Given the description of an element on the screen output the (x, y) to click on. 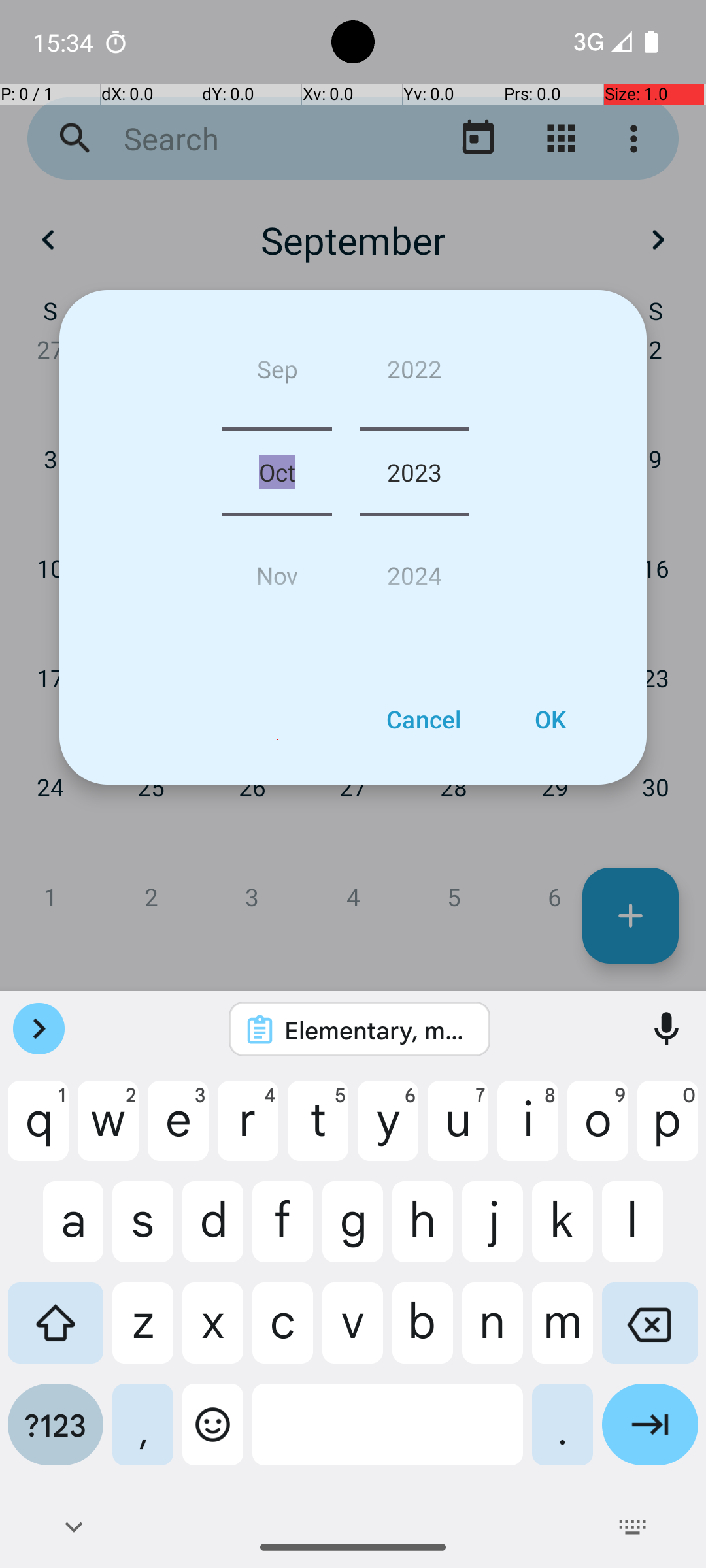
Elementary, my dear Watson. Element type: android.widget.TextView (376, 1029)
